Given the description of an element on the screen output the (x, y) to click on. 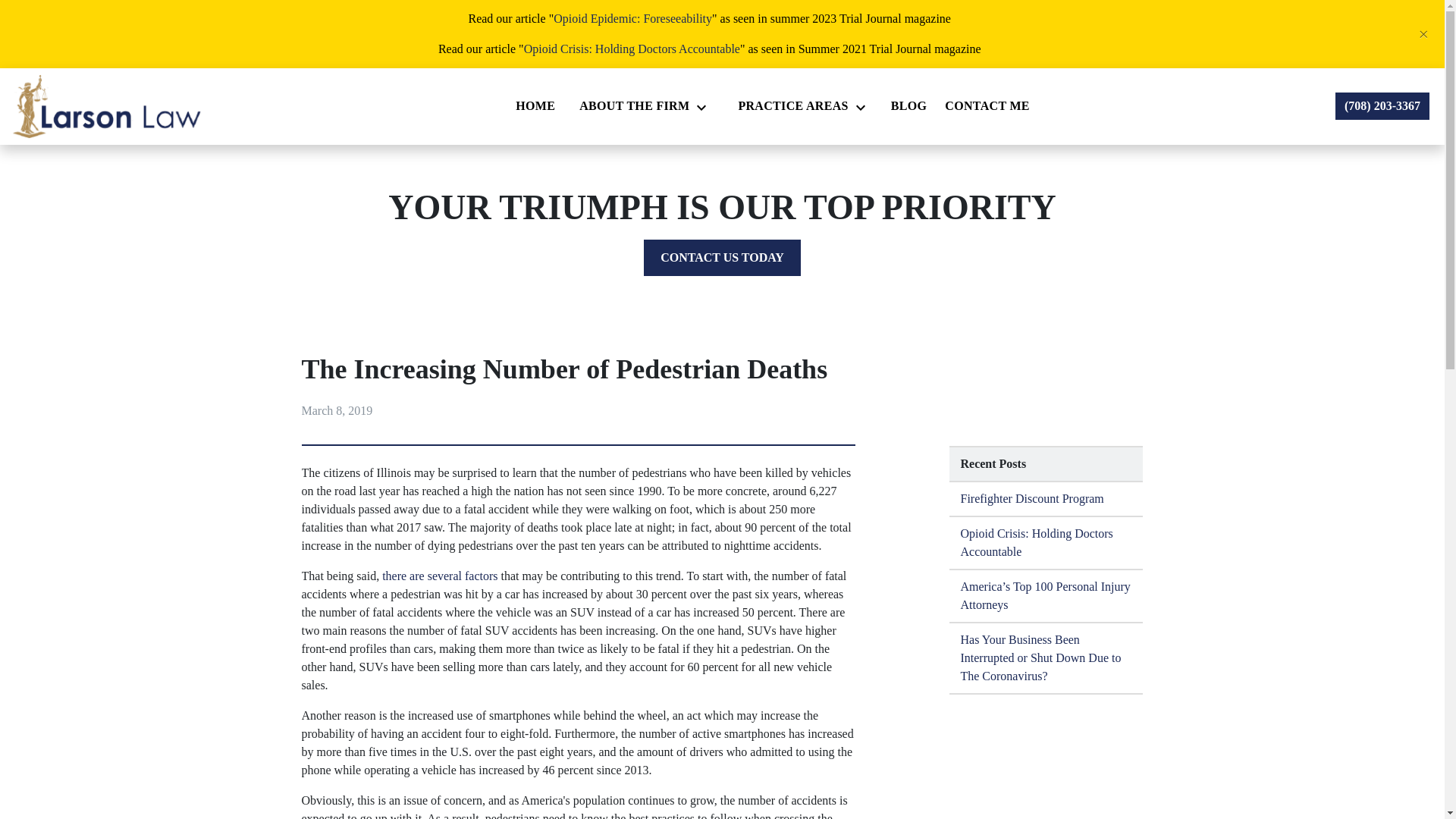
BLOG (909, 105)
CONTACT ME (987, 105)
Opioid Crisis: Holding Doctors Accountable (631, 48)
Firefighter Discount Program (1045, 499)
Opioid Epidemic: Foreseeability (632, 18)
there are several factors (439, 575)
PRACTICE AREAS (789, 105)
ABOUT THE FIRM (630, 105)
Opioid Crisis: Holding Doctors Accountable (1045, 543)
